Given the description of an element on the screen output the (x, y) to click on. 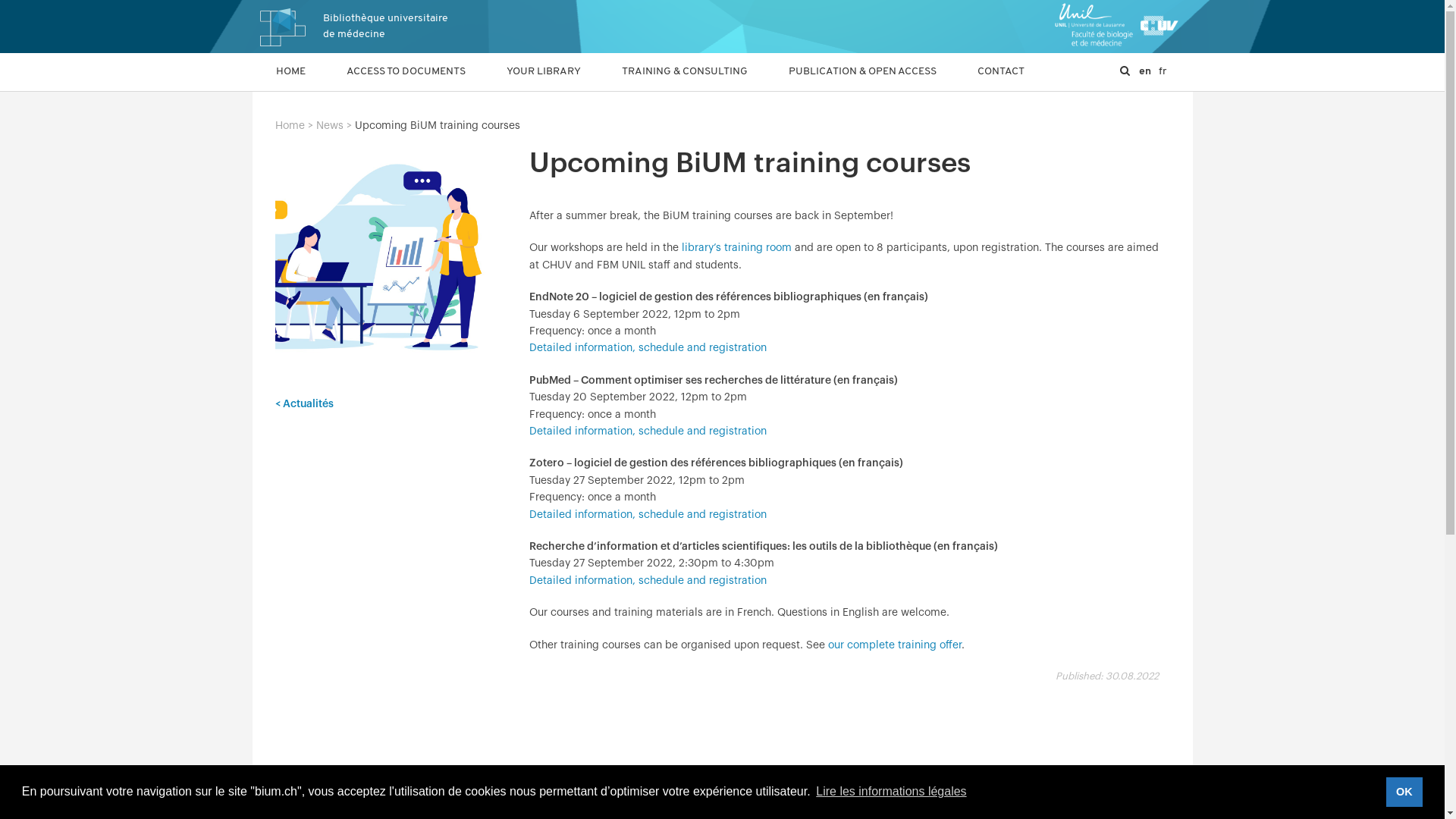
Access remotely Element type: text (547, 385)
Access computer workstations Element type: text (580, 292)
our complete training offer Element type: text (894, 645)
Home Element type: text (289, 125)
Detailed information, schedule and registration Element type: text (647, 514)
TRAINING & CONSULTING Element type: text (684, 72)
Get help with litterature reseach Element type: text (584, 199)
Connect to wifi Element type: text (541, 323)
Detailed information, schedule and registration Element type: text (647, 580)
Print and copy Element type: text (541, 354)
Recent acquisitions Element type: text (553, 448)
OK Element type: text (1404, 791)
Detailed information, schedule and registration Element type: text (647, 347)
Suggest a purchase Element type: text (553, 479)
Multimedia library Element type: text (550, 416)
News Element type: text (328, 125)
CONTACT Element type: text (999, 72)
en Element type: text (1145, 72)
ACCESS TO DOCUMENTS Element type: text (404, 72)
YOUR LIBRARY Element type: text (543, 71)
Register Element type: text (535, 137)
PUBLICATION & OPEN ACCESS Element type: text (862, 72)
Teaching collection Element type: text (552, 510)
Book group study rooms Element type: text (565, 261)
Borrow, renew Element type: text (541, 168)
NLM Classification Element type: text (550, 541)
Order unavailable articles and books Element type: text (602, 230)
HOME Element type: text (289, 72)
fr Element type: text (1162, 72)
Detailed information, schedule and registration Element type: text (647, 431)
Essential documents by medical specialty Element type: text (606, 572)
